Given the description of an element on the screen output the (x, y) to click on. 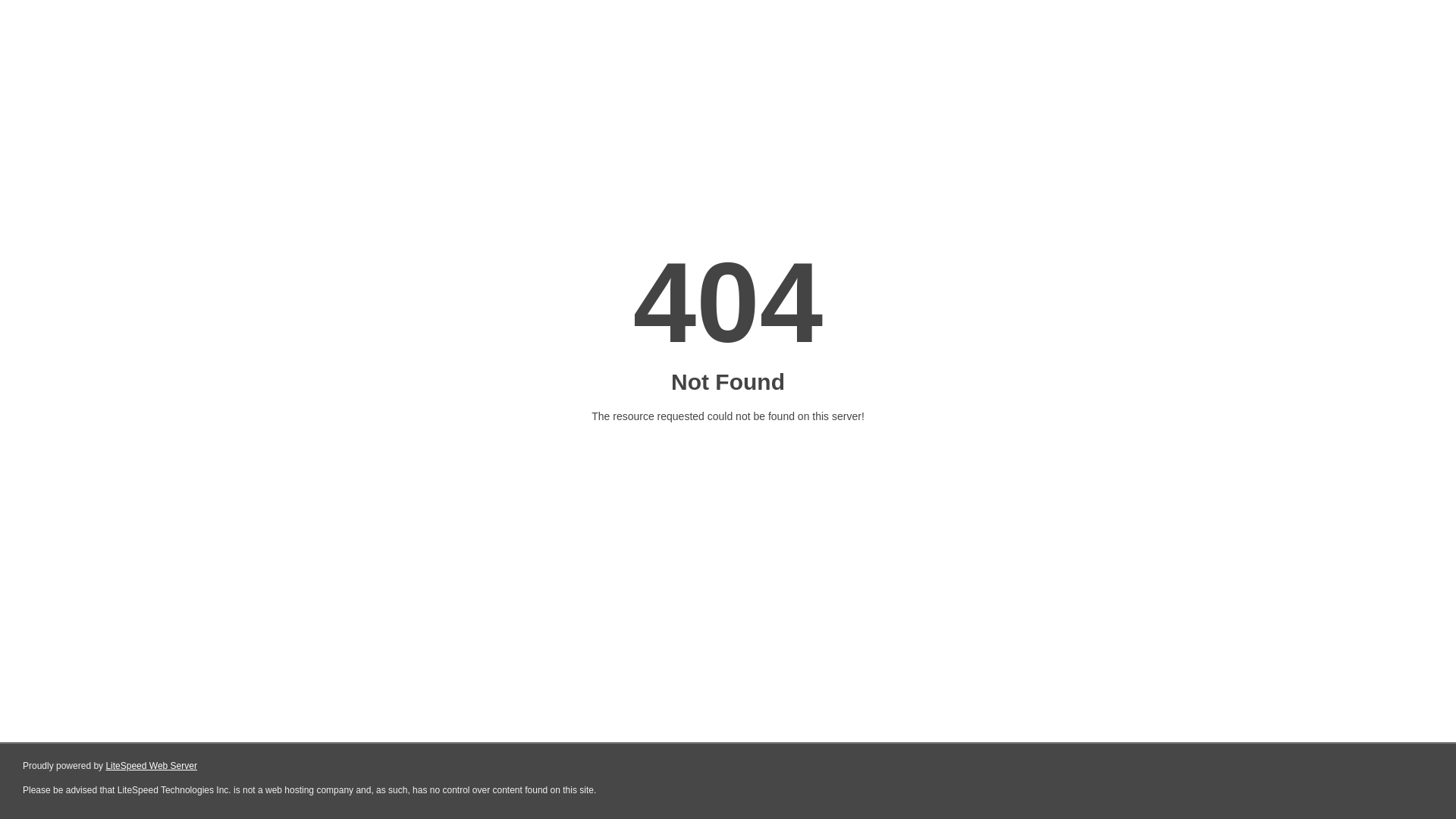
LiteSpeed Web Server Element type: text (151, 765)
